Given the description of an element on the screen output the (x, y) to click on. 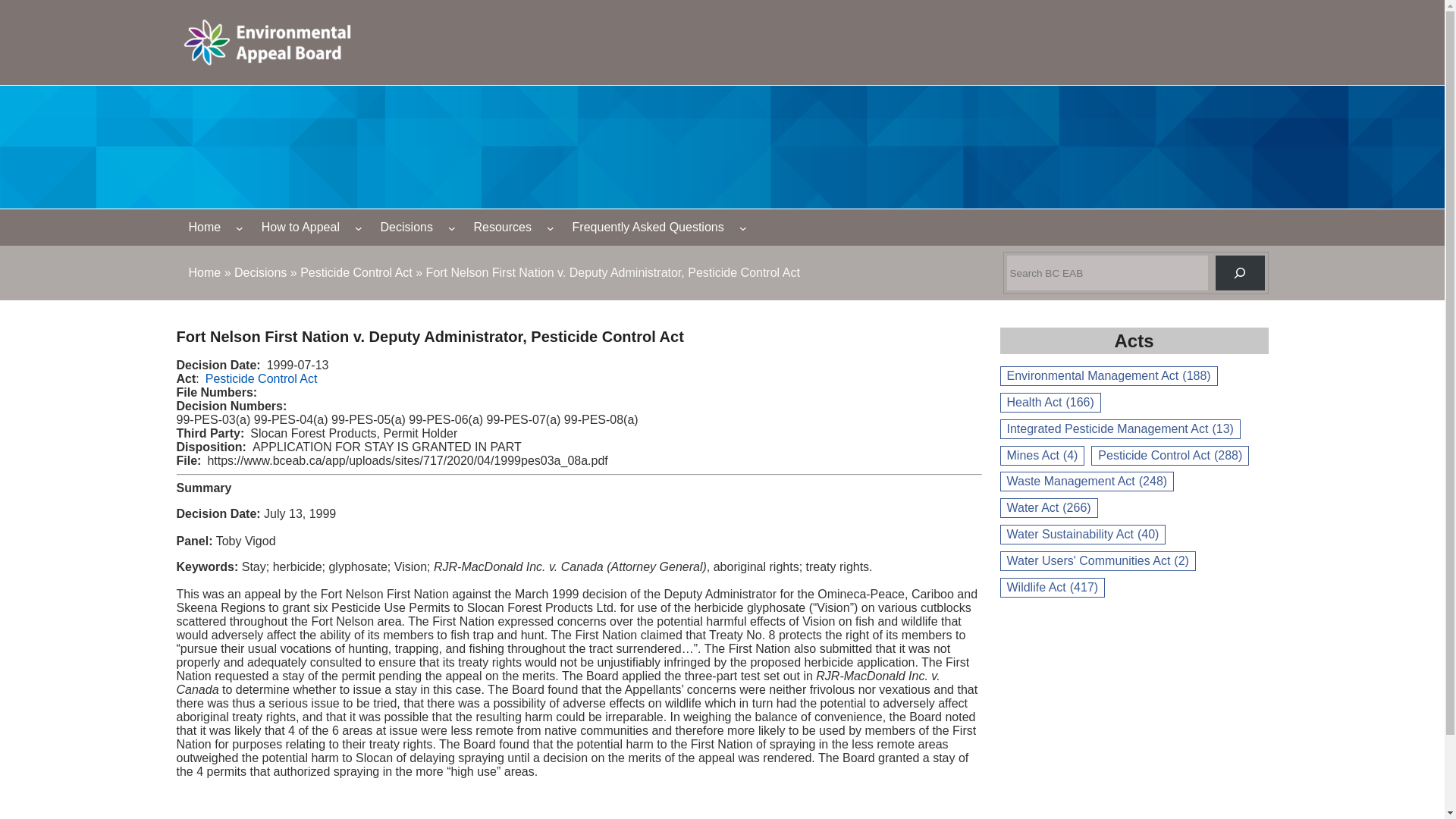
Home (204, 227)
Pesticide Control Act (261, 378)
Decisions (260, 272)
Home (204, 272)
Home (204, 272)
Pesticide Control Act (355, 272)
Decisions (260, 272)
Resources (502, 227)
How to Appeal (300, 227)
Decisions (406, 227)
Frequently Asked Questions (648, 227)
Pesticide Control Act (355, 272)
